Given the description of an element on the screen output the (x, y) to click on. 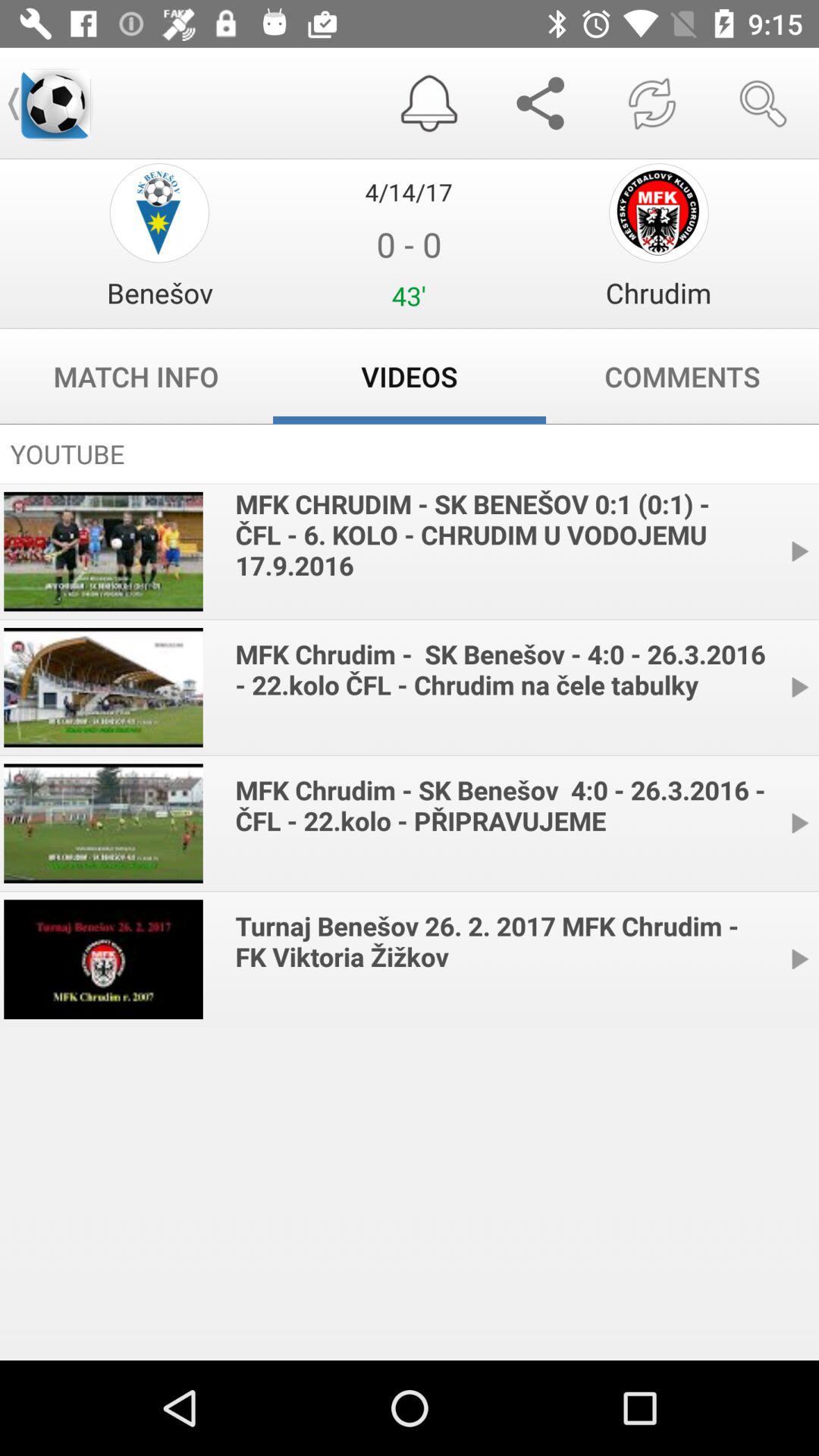
swipe until 4/14/17 item (408, 191)
